Given the description of an element on the screen output the (x, y) to click on. 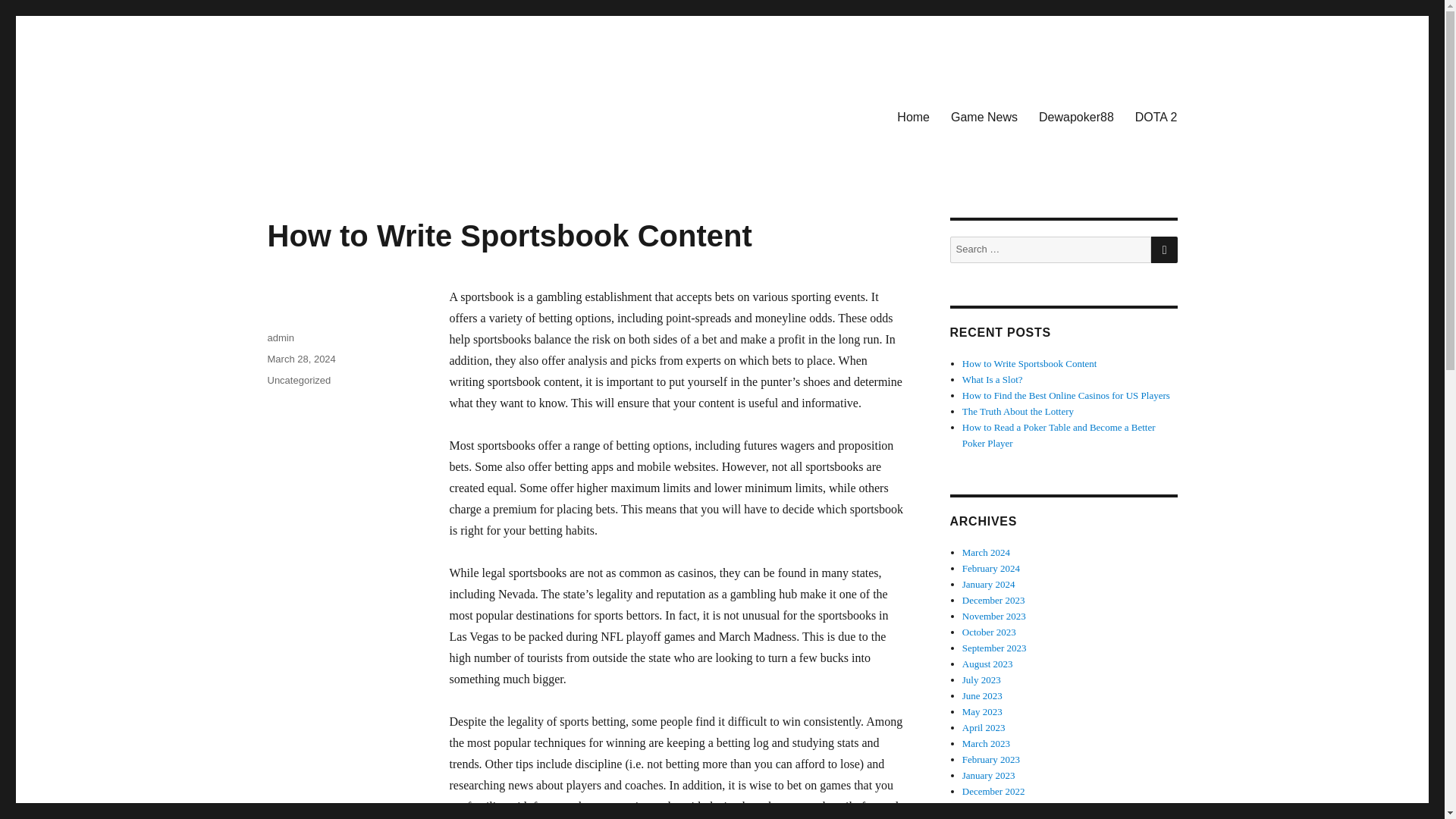
December 2022 (993, 790)
Uncategorized (298, 379)
The Truth About the Lottery (1018, 410)
March 2023 (986, 743)
How to Write Sportsbook Content (1029, 363)
May 2023 (982, 711)
What Is a Slot? (992, 378)
September 2023 (994, 647)
How to Find the Best Online Casinos for US Players (1066, 395)
January 2023 (988, 775)
